Given the description of an element on the screen output the (x, y) to click on. 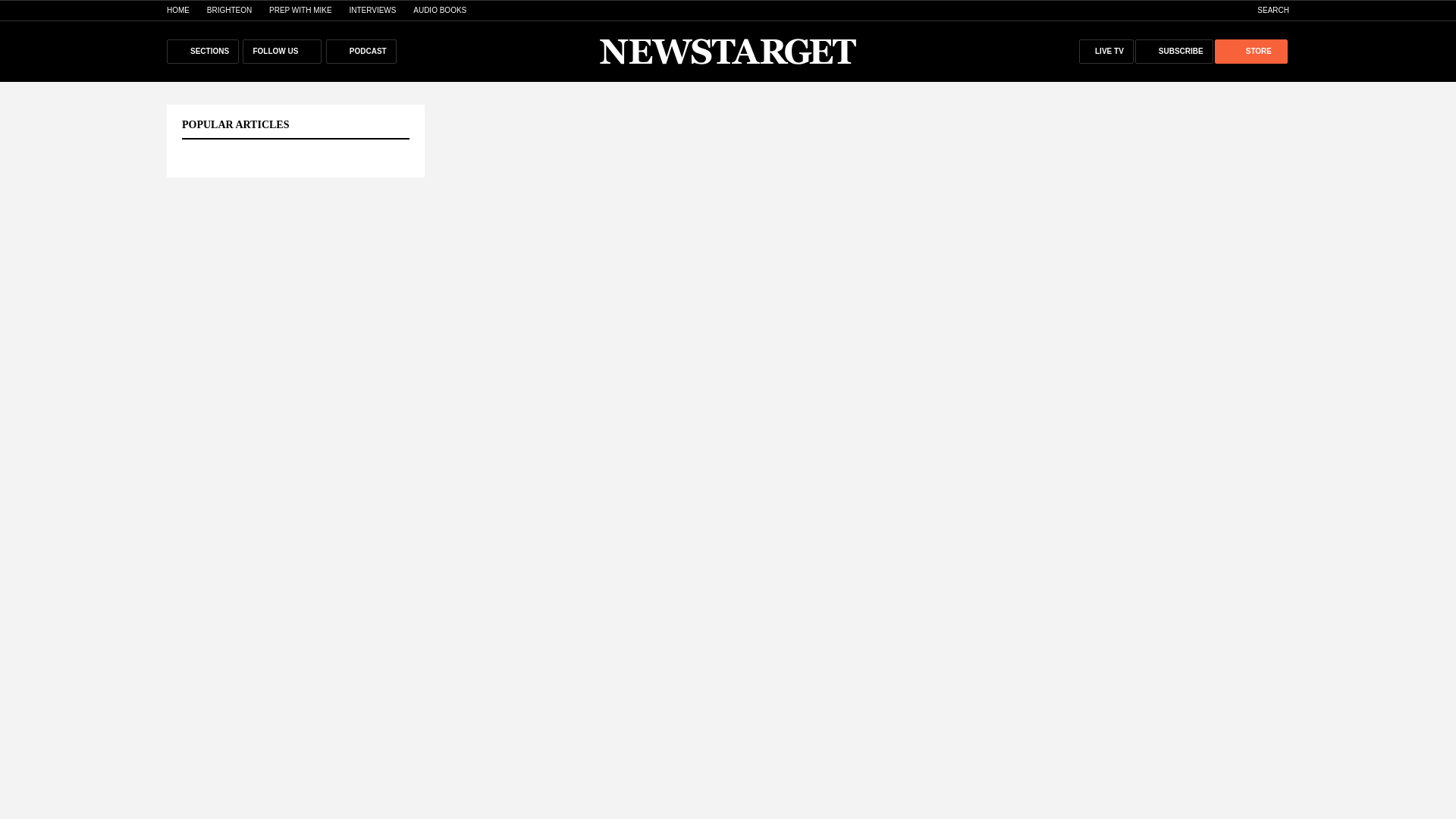
INTERVIEWS (372, 9)
SUBSCRIBE (1173, 51)
AUDIO BOOKS (439, 9)
HOME (178, 9)
LIVE TV (1106, 51)
STORE (1250, 51)
BRIGHTEON (228, 9)
PODCAST (361, 51)
SEARCH (1264, 9)
PREP WITH MIKE (300, 9)
